Given the description of an element on the screen output the (x, y) to click on. 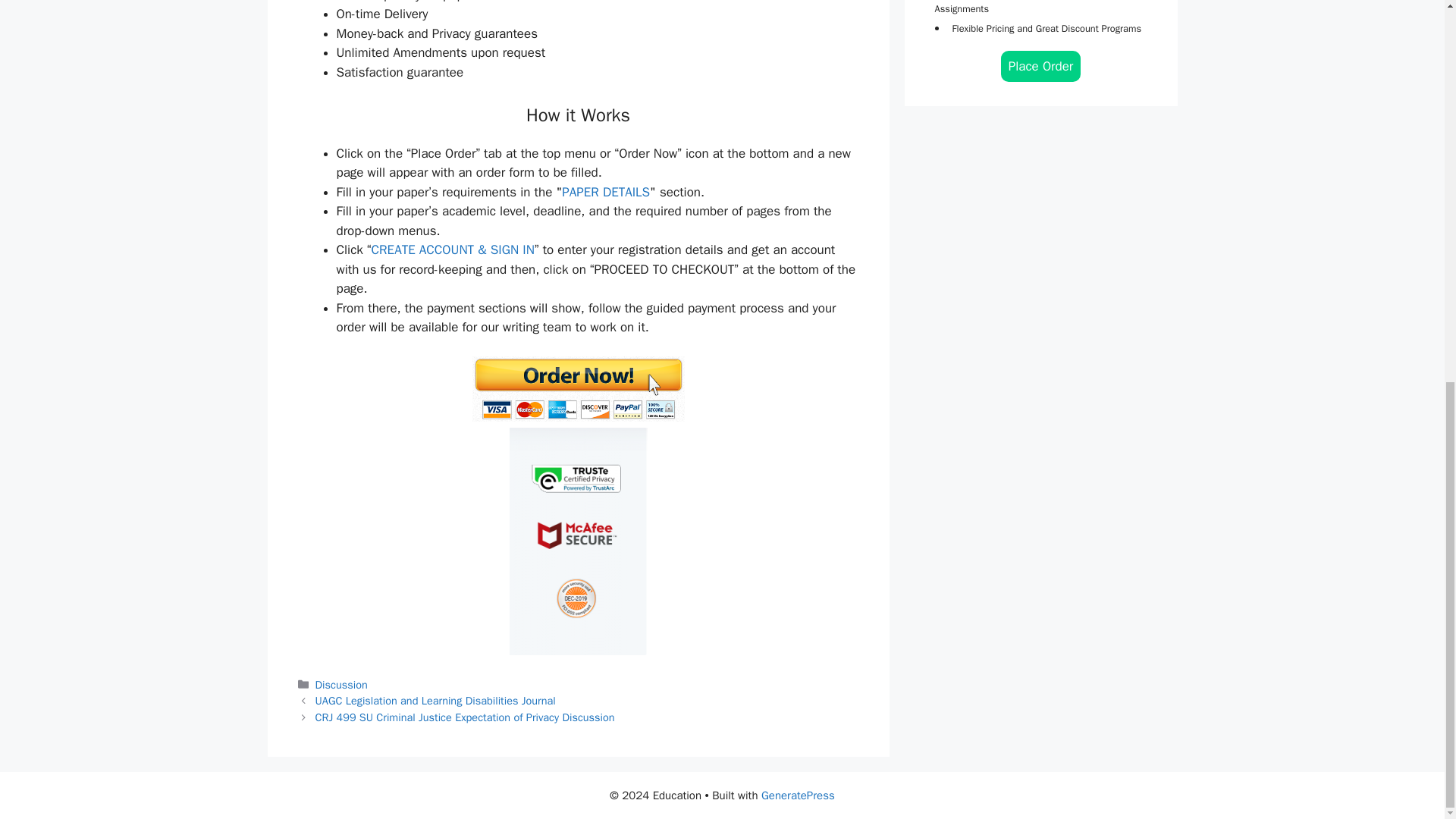
Place Order (1041, 65)
PAPER DETAILS (605, 191)
GeneratePress (797, 795)
Discussion (341, 684)
UAGC Legislation and Learning Disabilities Journal (435, 700)
